Given the description of an element on the screen output the (x, y) to click on. 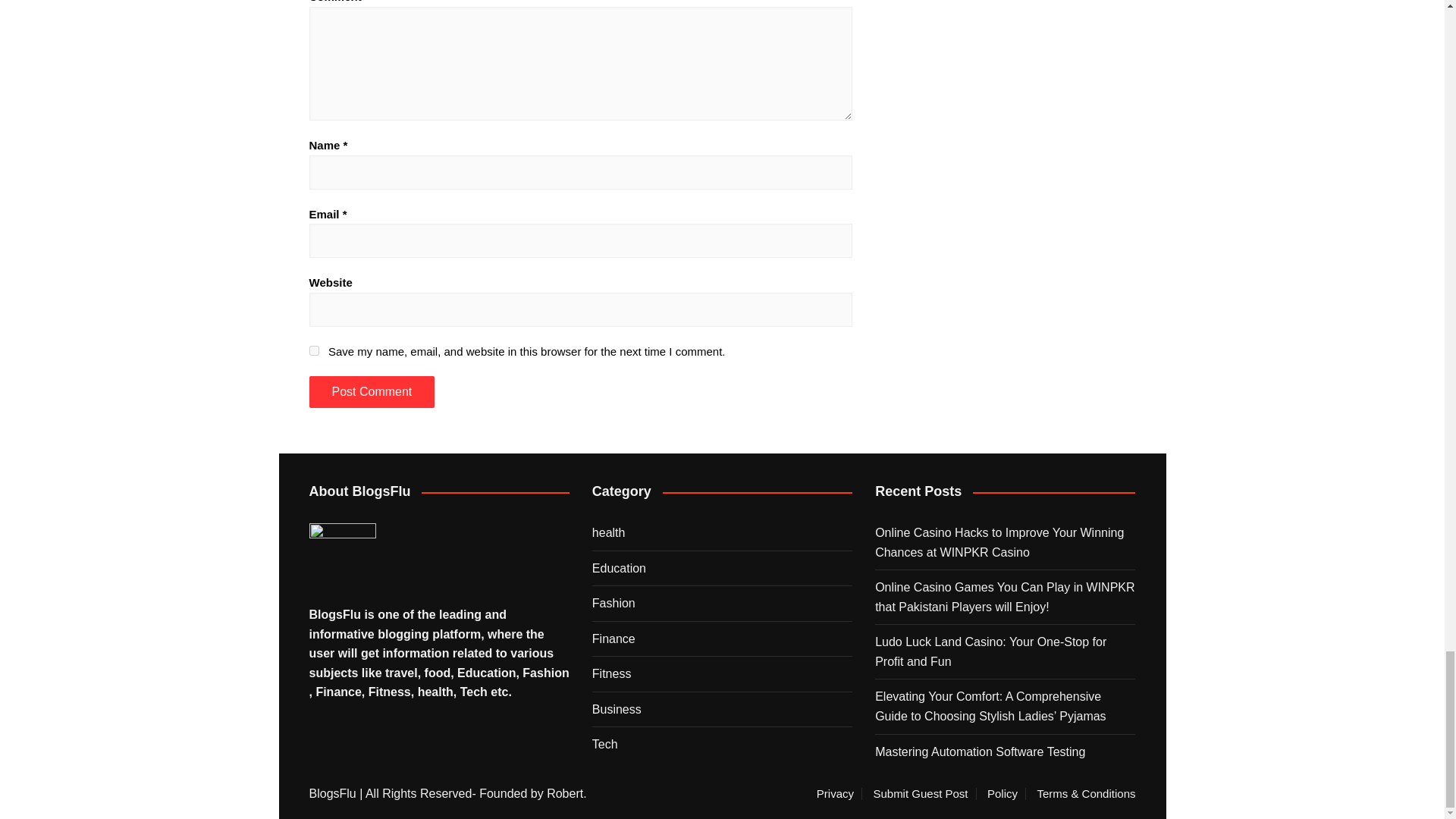
yes (313, 350)
Post Comment (371, 391)
